Given the description of an element on the screen output the (x, y) to click on. 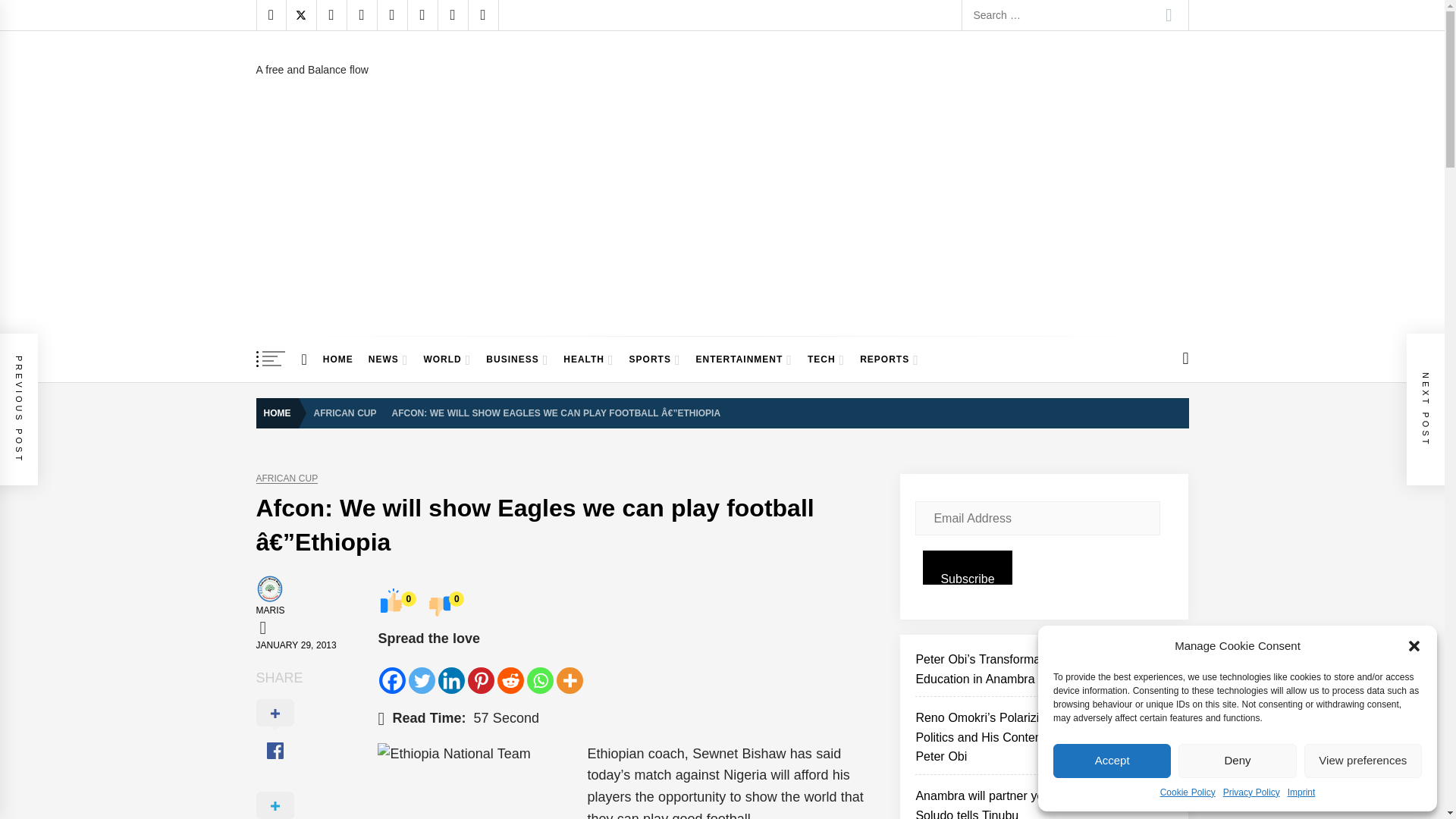
View preferences (1363, 760)
Privacy Policy (1251, 792)
Search (1169, 15)
Search (1169, 15)
Accept (1111, 760)
WORLD (446, 359)
Codewit World News (383, 76)
Deny (1236, 760)
Imprint (1301, 792)
HOME (338, 359)
NEWS (388, 359)
Search (1169, 15)
Cookie Policy (1187, 792)
